Given the description of an element on the screen output the (x, y) to click on. 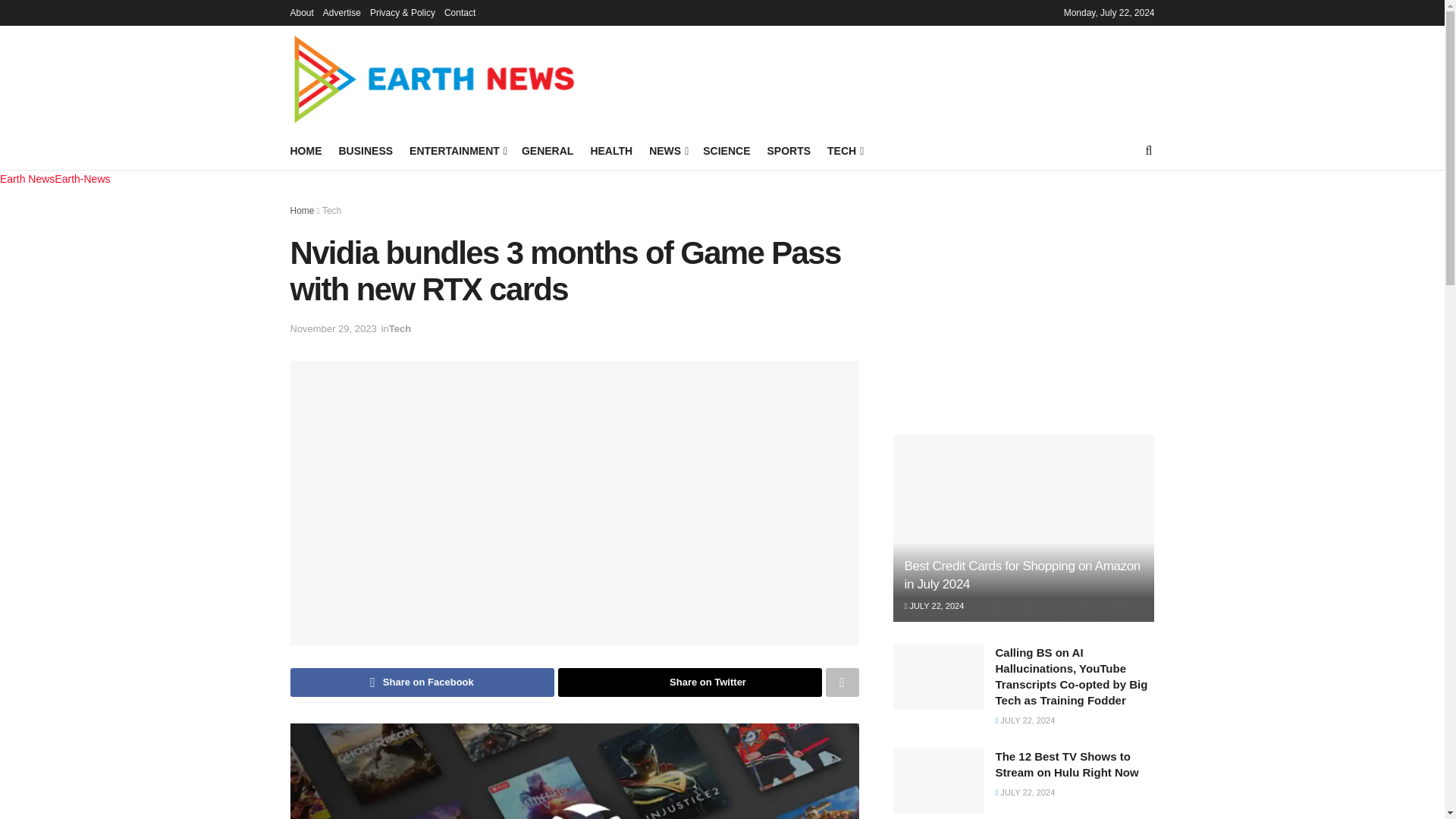
HEALTH (610, 150)
NEWS (667, 150)
Advertise (342, 12)
About (301, 12)
BUSINESS (365, 150)
GENERAL (547, 150)
Contact (460, 12)
HOME (305, 150)
ENTERTAINMENT (457, 150)
